Given the description of an element on the screen output the (x, y) to click on. 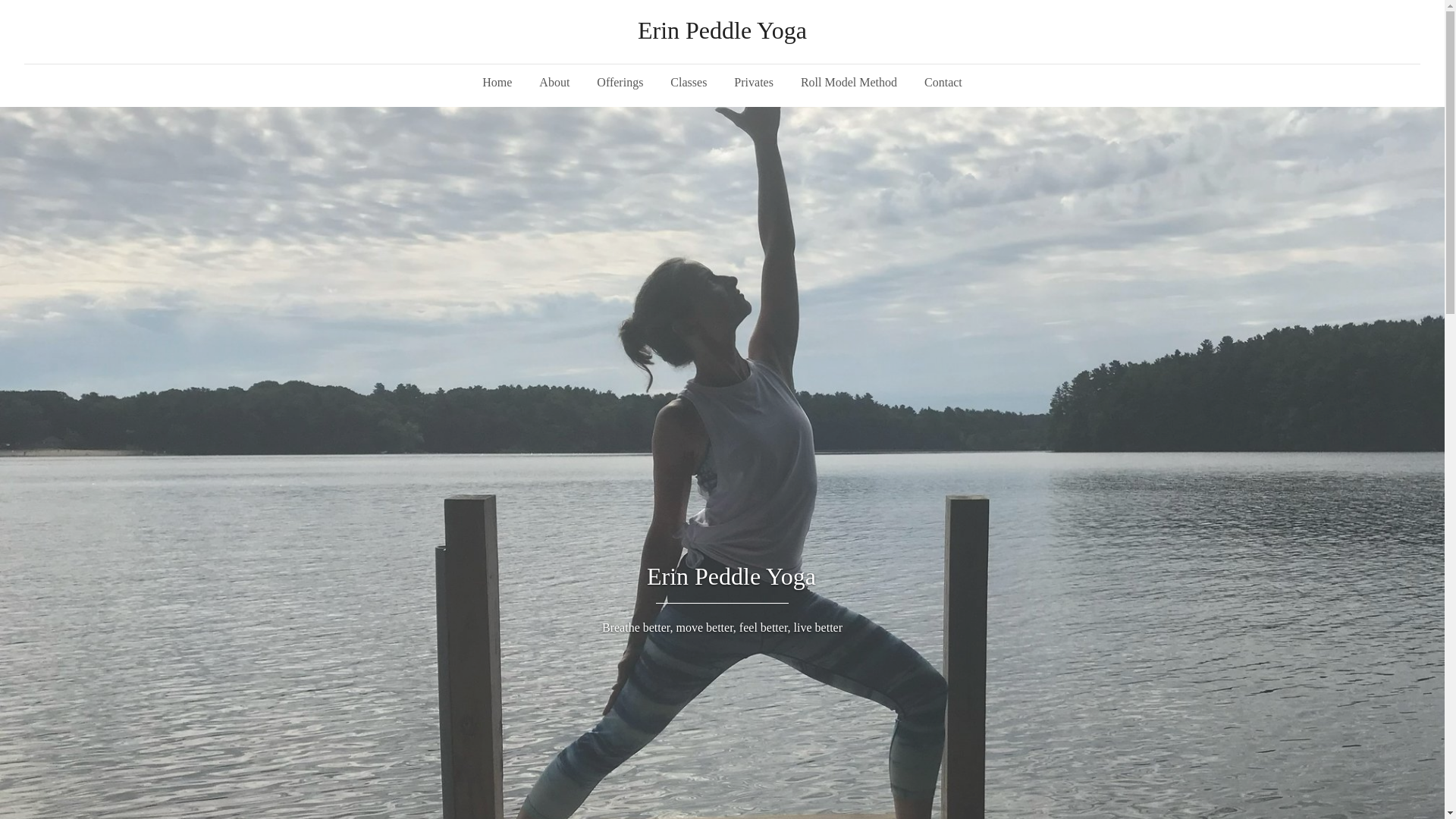
Home (497, 82)
Offerings (620, 82)
Privates (754, 82)
Roll Model Method (848, 82)
Classes (688, 82)
Contact (943, 82)
Erin Peddle Yoga (721, 30)
About (553, 82)
